Given the description of an element on the screen output the (x, y) to click on. 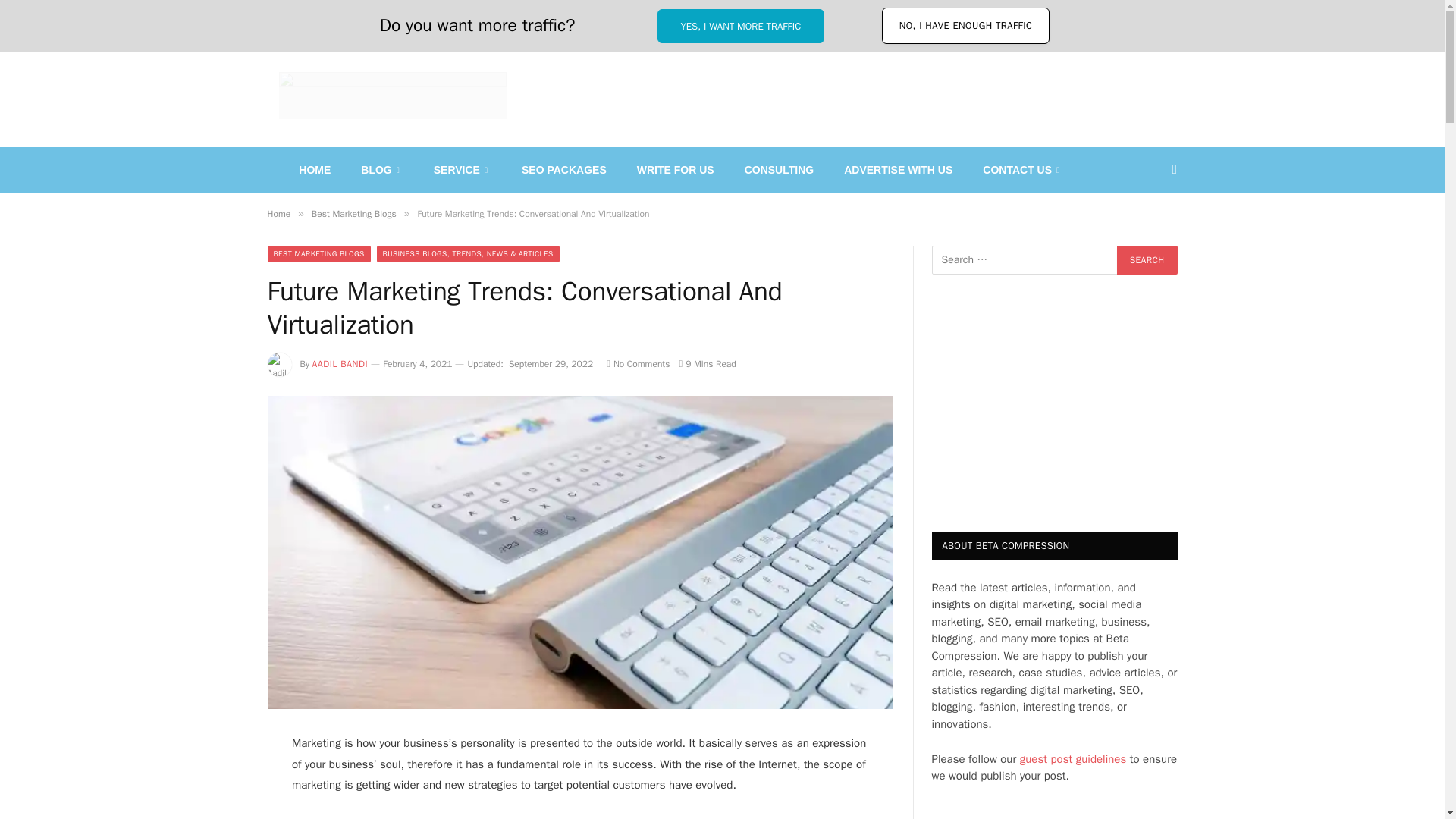
Search (1146, 259)
HOME (314, 169)
YES, I WANT MORE TRAFFIC (741, 26)
ADVERTISE WITH US (898, 169)
SERVICE (462, 169)
SEO PACKAGES (563, 169)
Advertisement (800, 92)
Search (1146, 259)
NO, I HAVE ENOUGH TRAFFIC (965, 25)
